Given the description of an element on the screen output the (x, y) to click on. 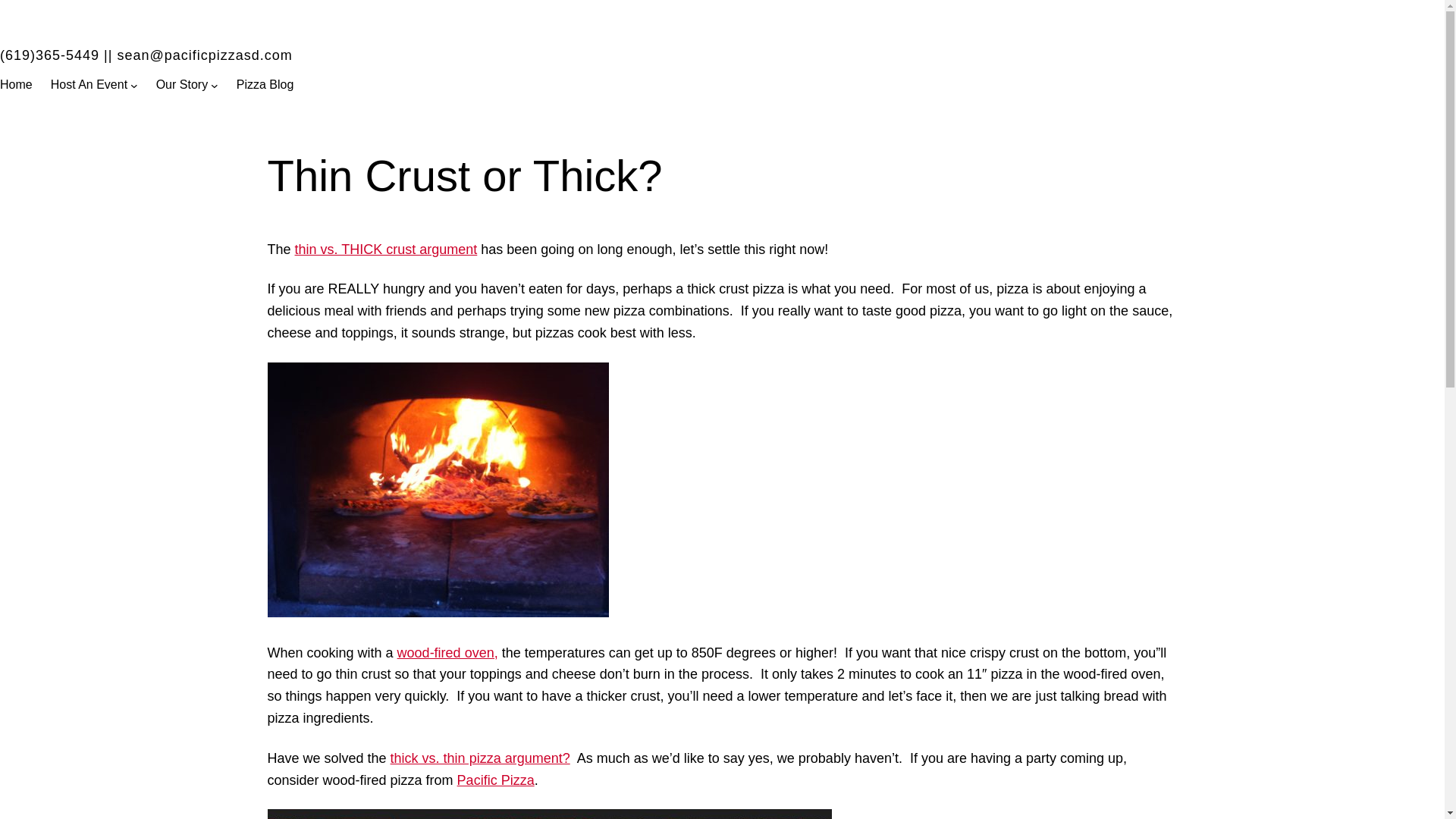
thick vs. thin pizza argument? (480, 758)
Home (16, 85)
Host An Event (89, 85)
thin vs. THICK crust argument (386, 249)
Pacific Pizza (495, 780)
Our Story (181, 85)
wood-fired oven, (447, 652)
Pizza Blog (264, 85)
